Given the description of an element on the screen output the (x, y) to click on. 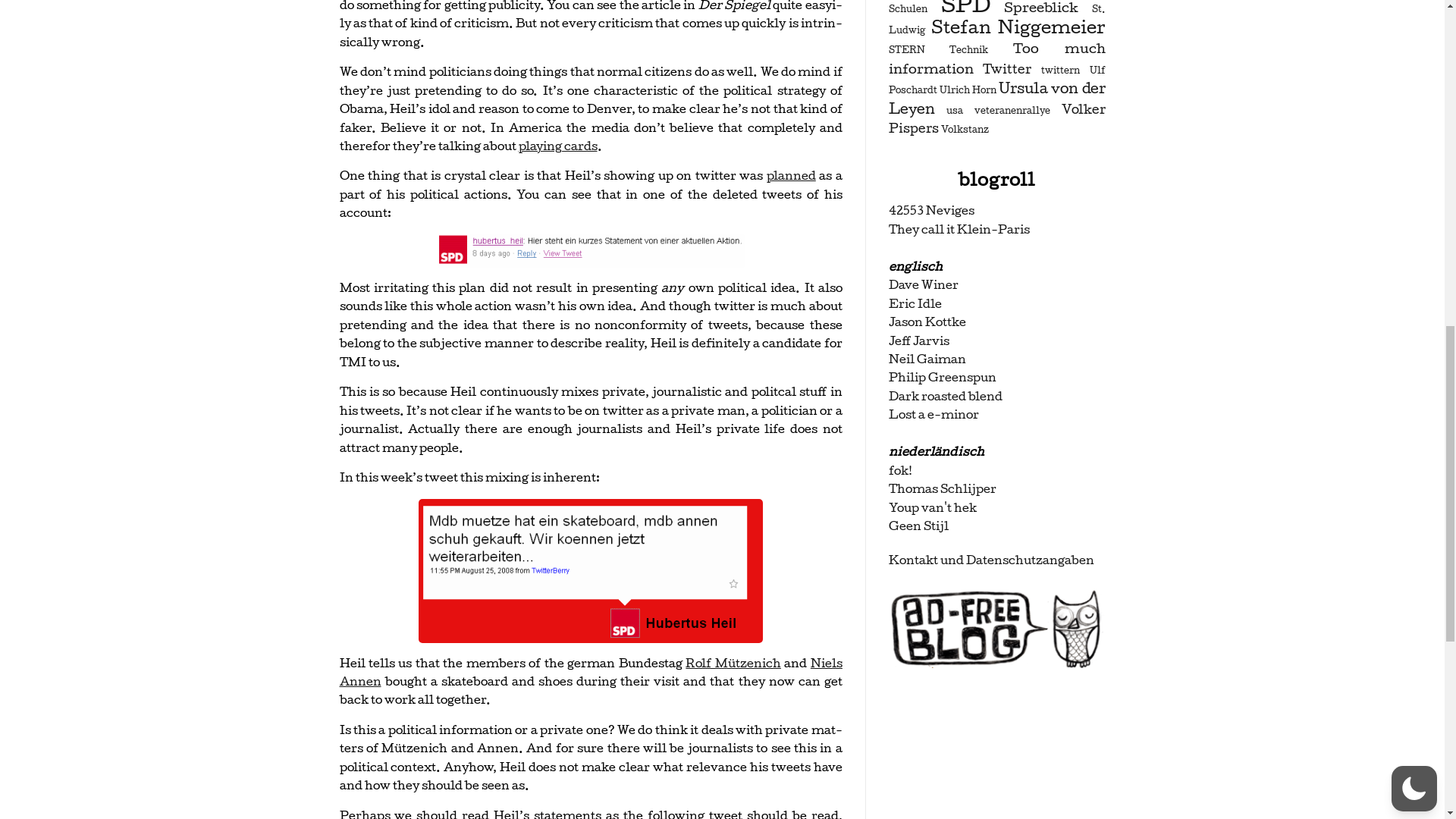
Scripting news (923, 284)
hubi1 (590, 570)
Bekanntester Kabarettist der Niederlande (932, 507)
